Given the description of an element on the screen output the (x, y) to click on. 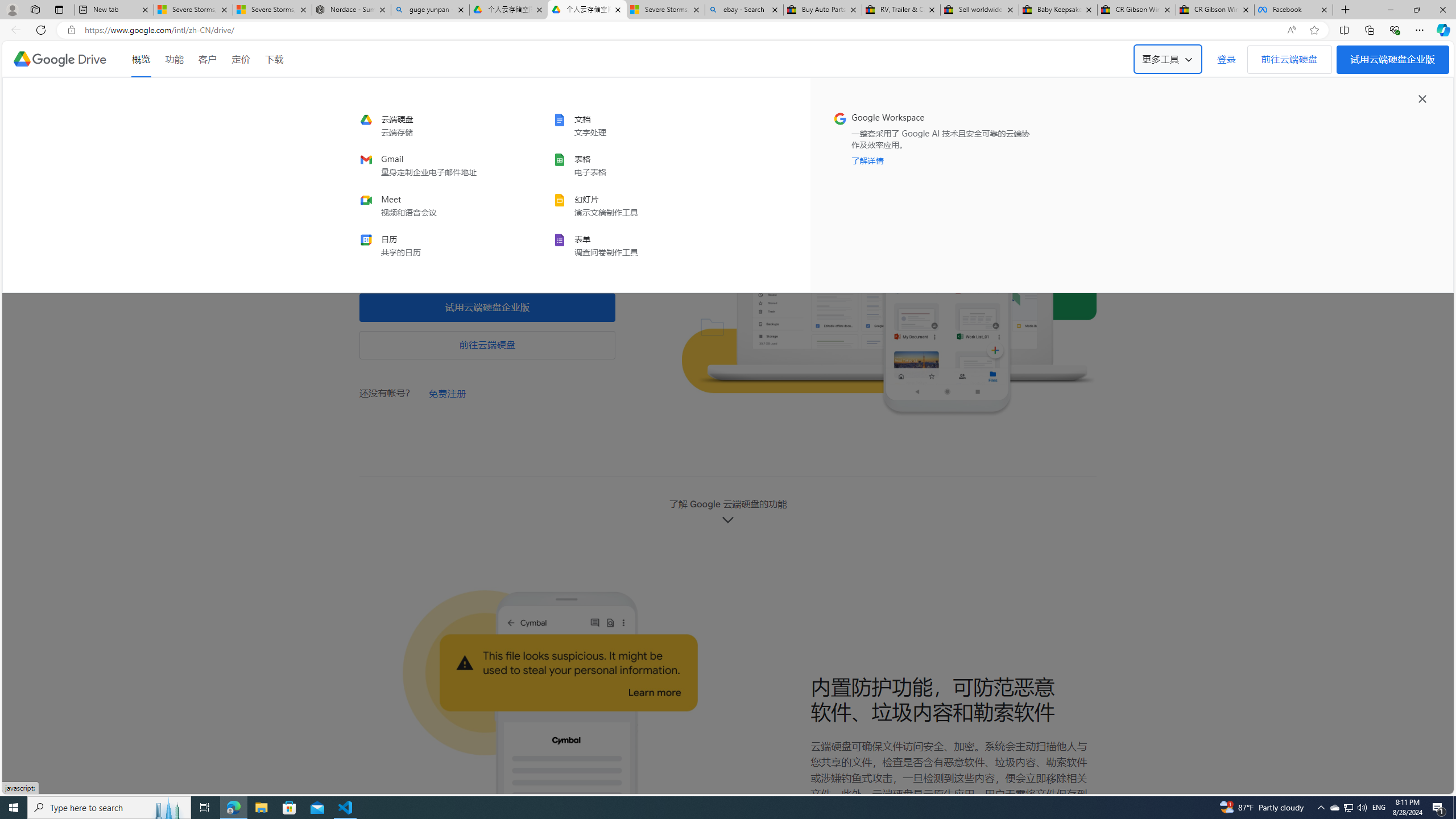
slides (627, 205)
calendar (435, 244)
